Given the description of an element on the screen output the (x, y) to click on. 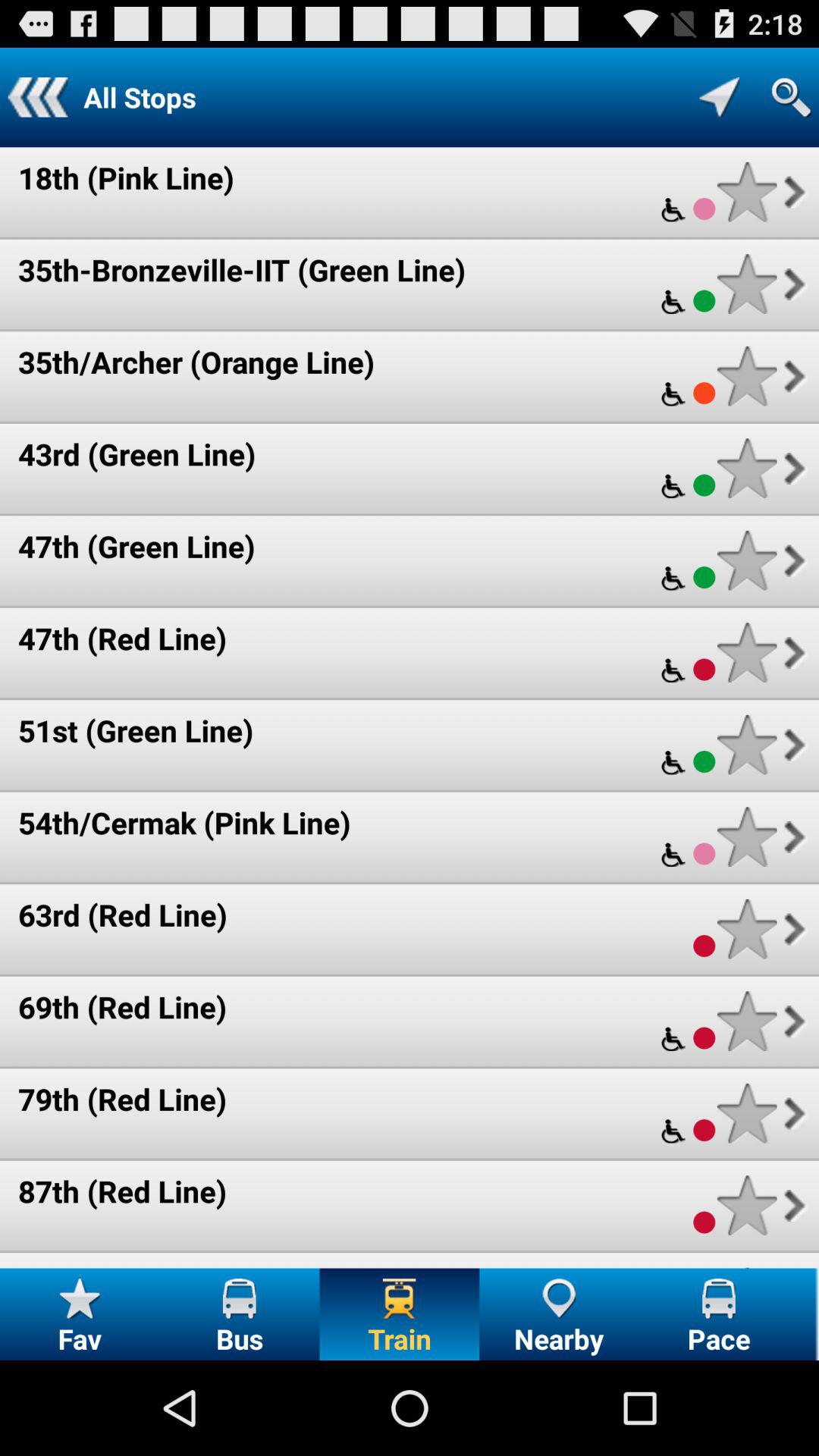
favorite route (746, 1113)
